Given the description of an element on the screen output the (x, y) to click on. 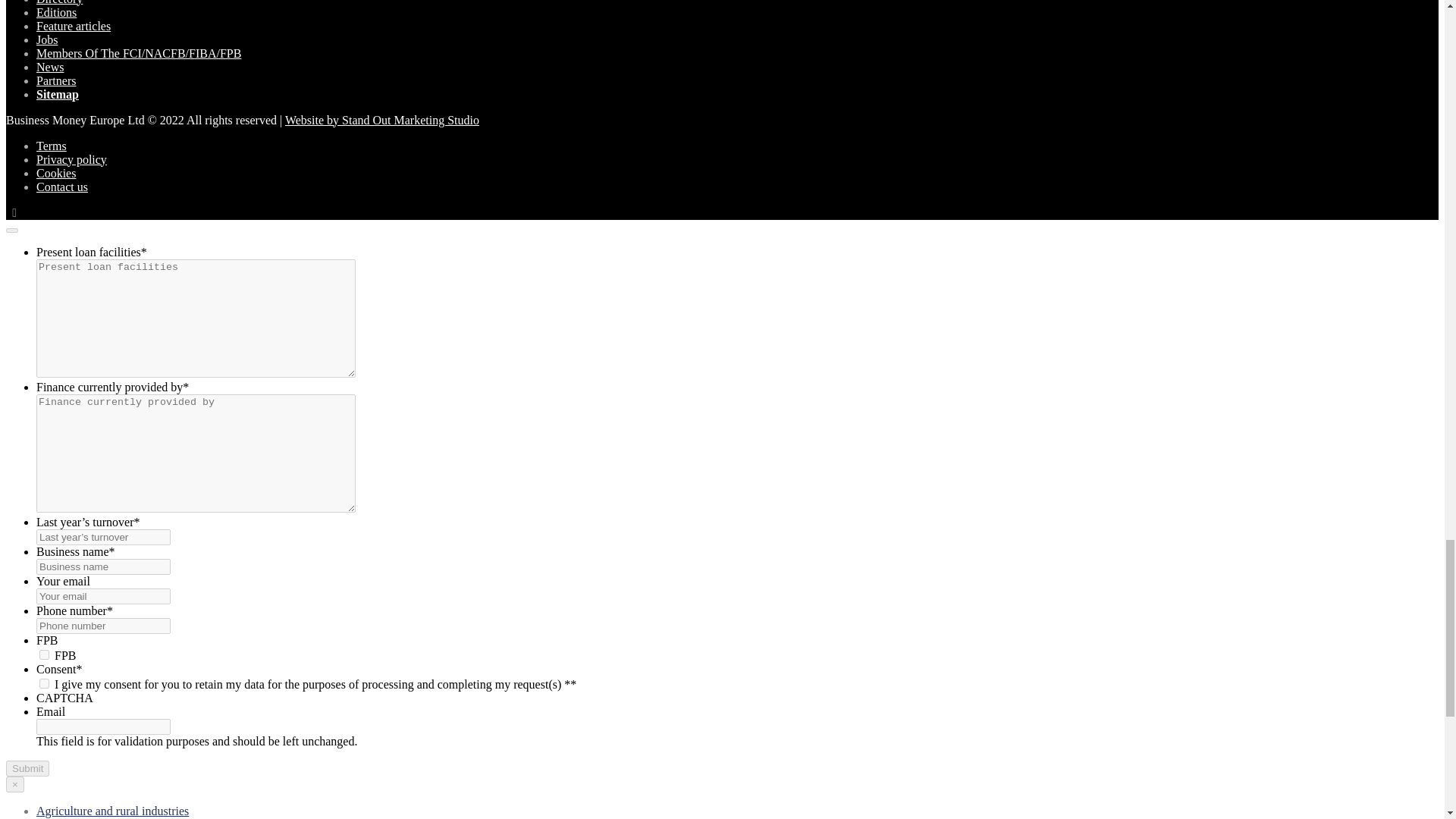
1 (44, 683)
Submit (27, 768)
1 (44, 655)
